Given the description of an element on the screen output the (x, y) to click on. 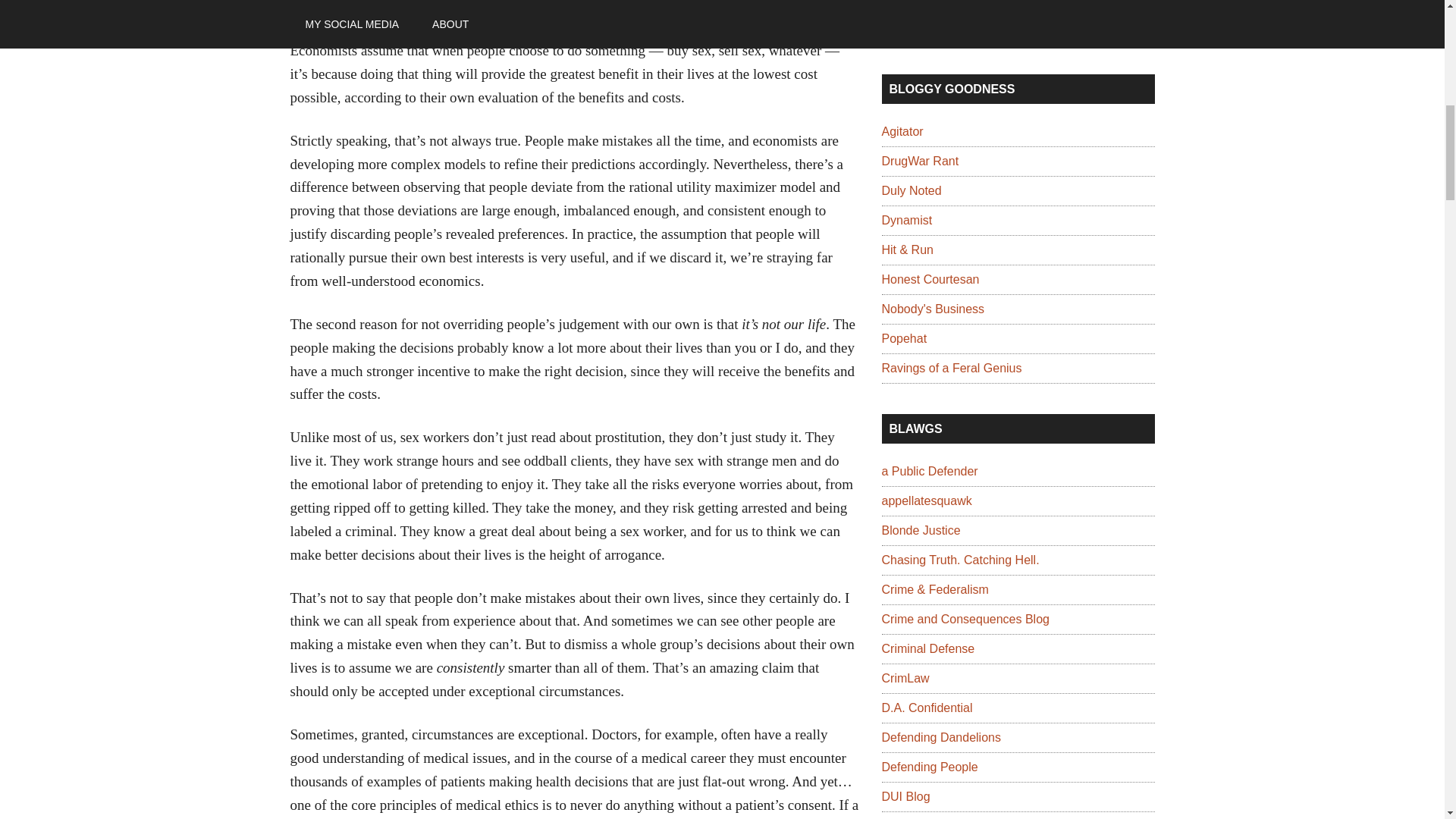
Notes from a retired call girl. (929, 278)
A hilarious blog about appellate law. No, really. (925, 500)
A blog about negative liberty. (932, 308)
Virgina Postrel, author, columnist, and famous kidney doner. (905, 219)
Radley Balko, libertarian investigative reporter (901, 131)
Jennifer Abel, the one and only (951, 367)
A group complaint about law, liberty, and leisure. (903, 338)
Lindsay Beyerstein, progressive writer (910, 190)
